Given the description of an element on the screen output the (x, y) to click on. 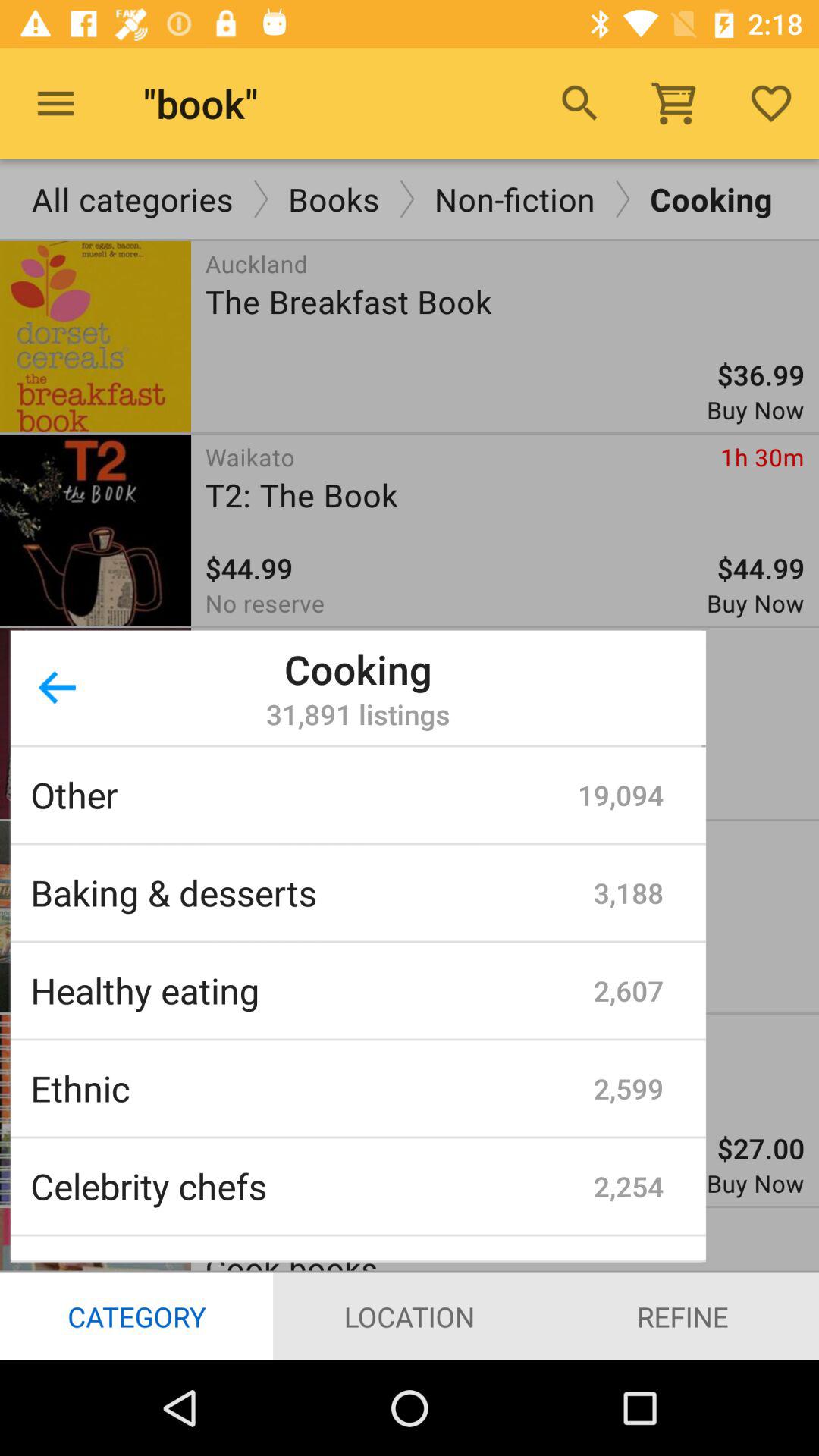
press icon below the healthy eating (311, 1088)
